Given the description of an element on the screen output the (x, y) to click on. 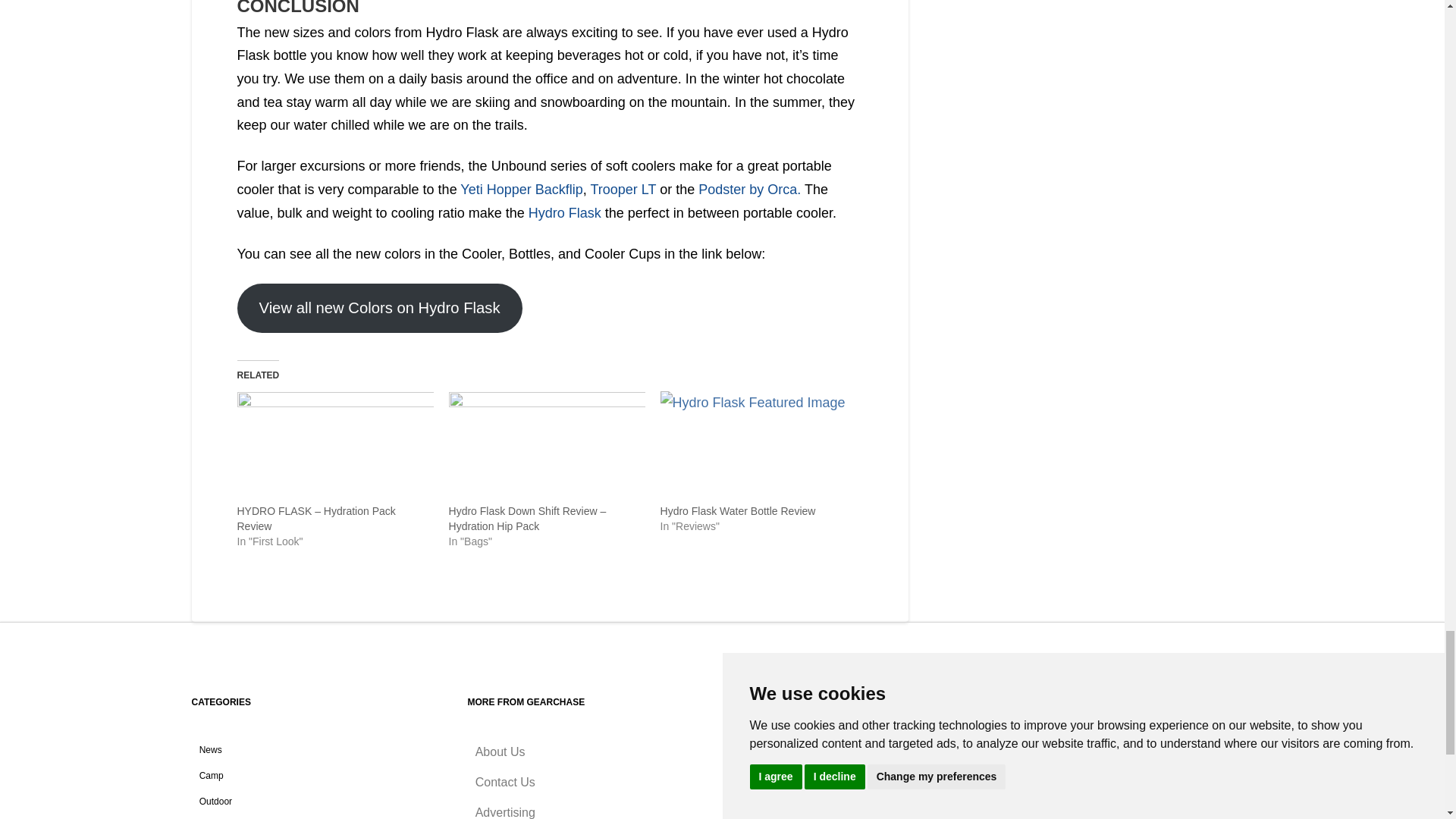
Hydro Flask Water Bottle Review (759, 447)
Hydro Flask Water Bottle Review (738, 510)
